Given the description of an element on the screen output the (x, y) to click on. 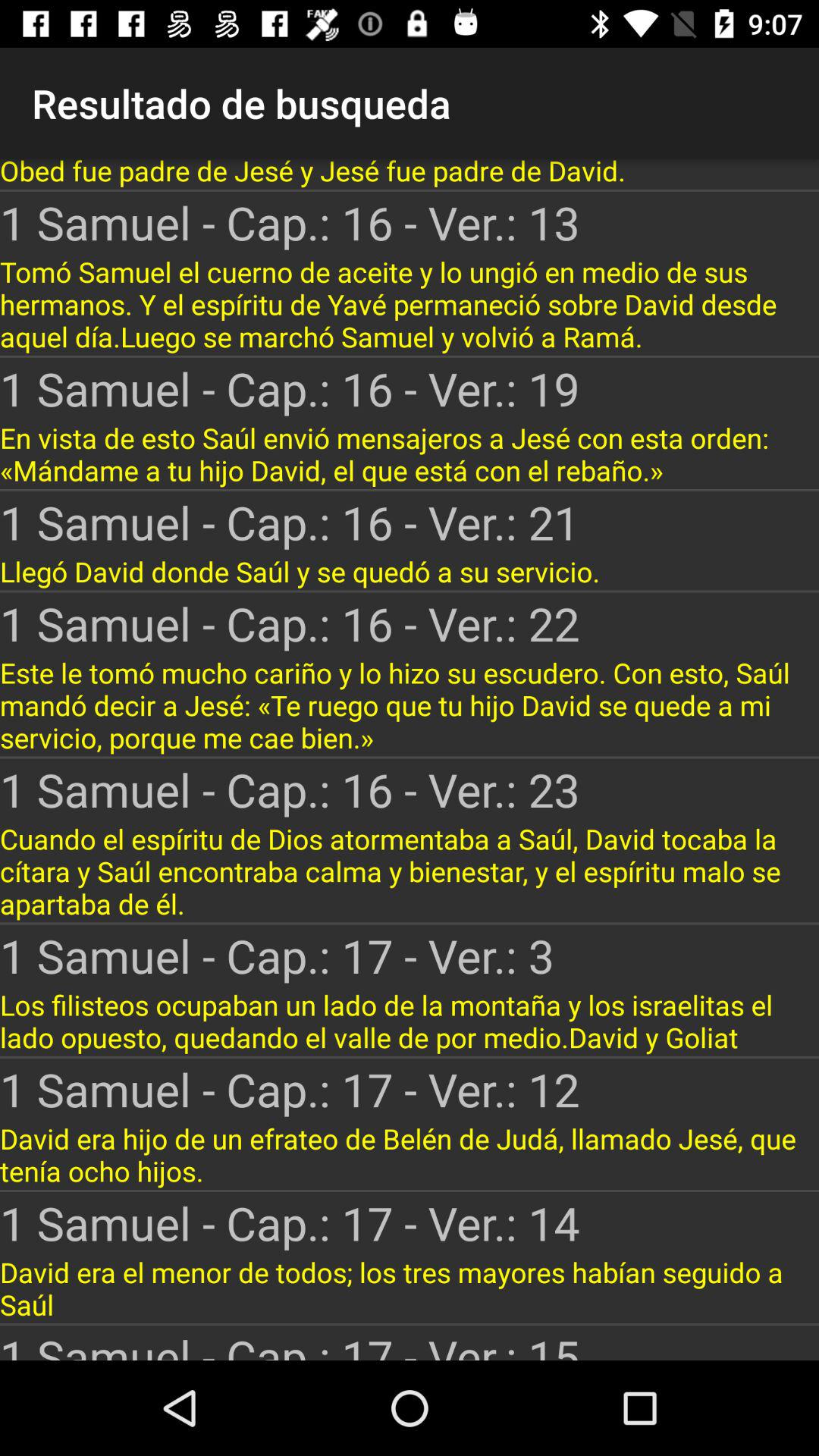
launch item above the 1 samuel cap item (409, 304)
